Given the description of an element on the screen output the (x, y) to click on. 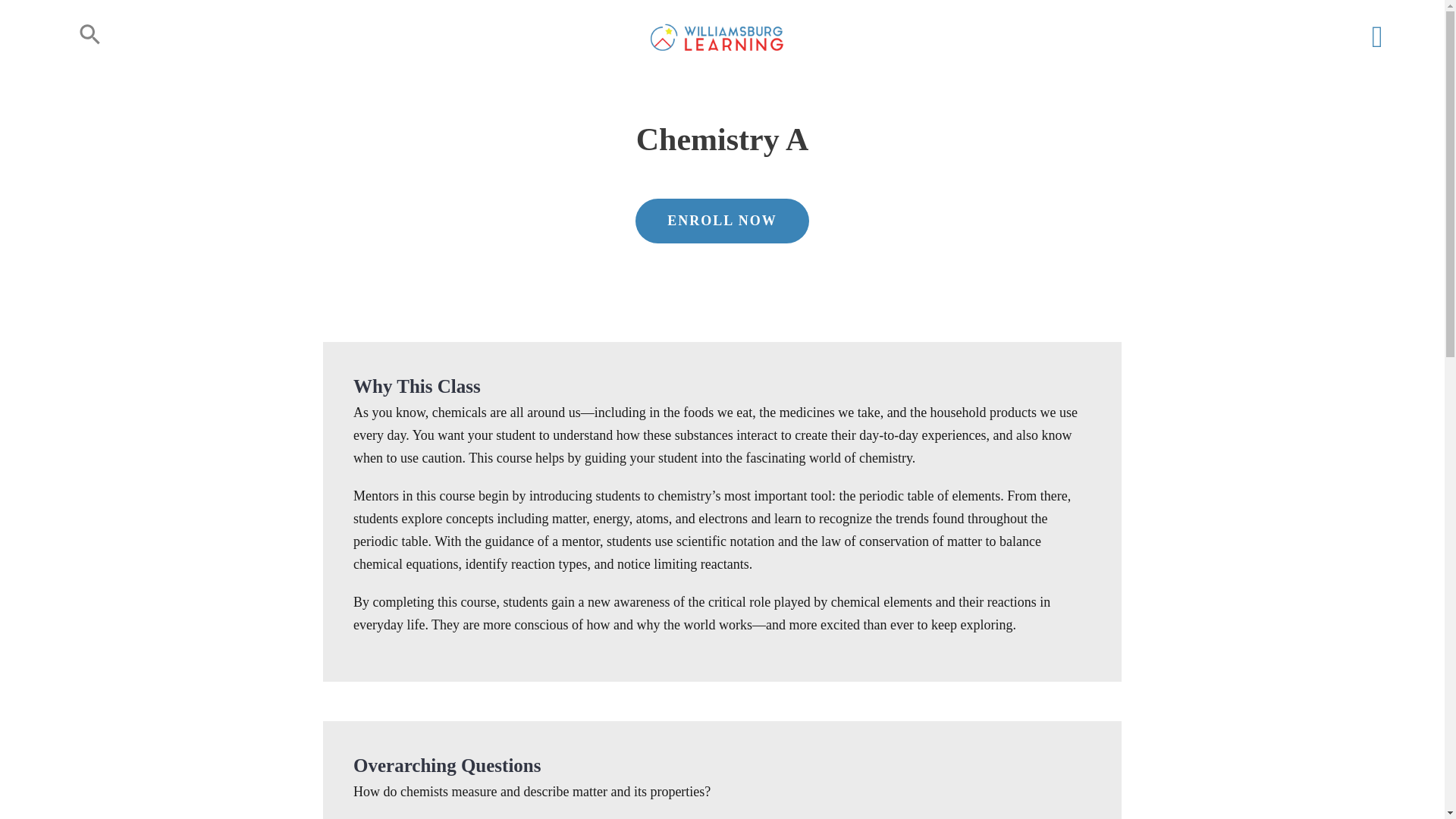
ENROLL NOW (722, 232)
Chemistry A (722, 151)
